Given the description of an element on the screen output the (x, y) to click on. 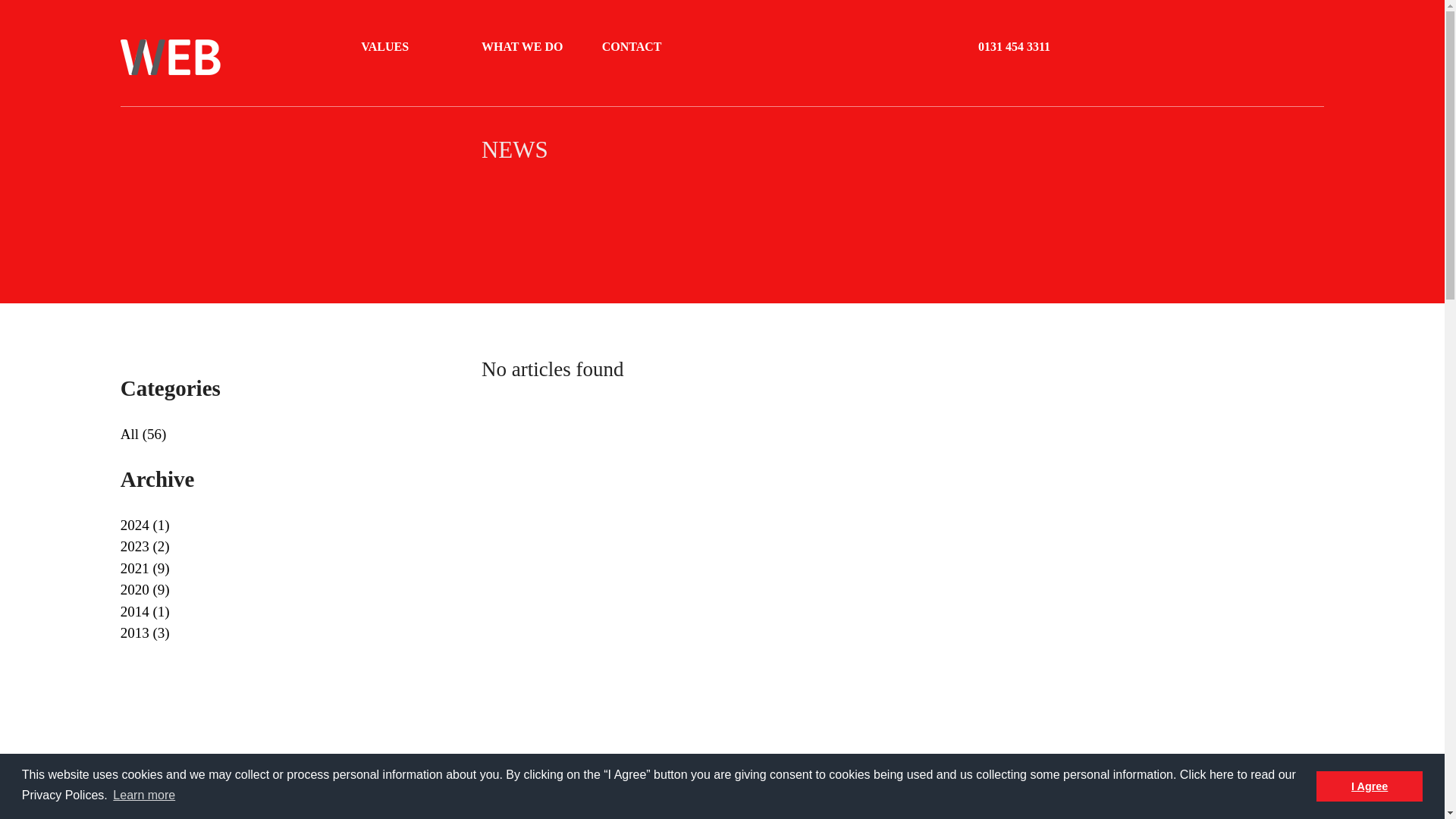
WHAT WE DO (524, 46)
Learn more (143, 794)
I Agree (1369, 786)
CONTACT (633, 46)
VALUES (386, 46)
